Given the description of an element on the screen output the (x, y) to click on. 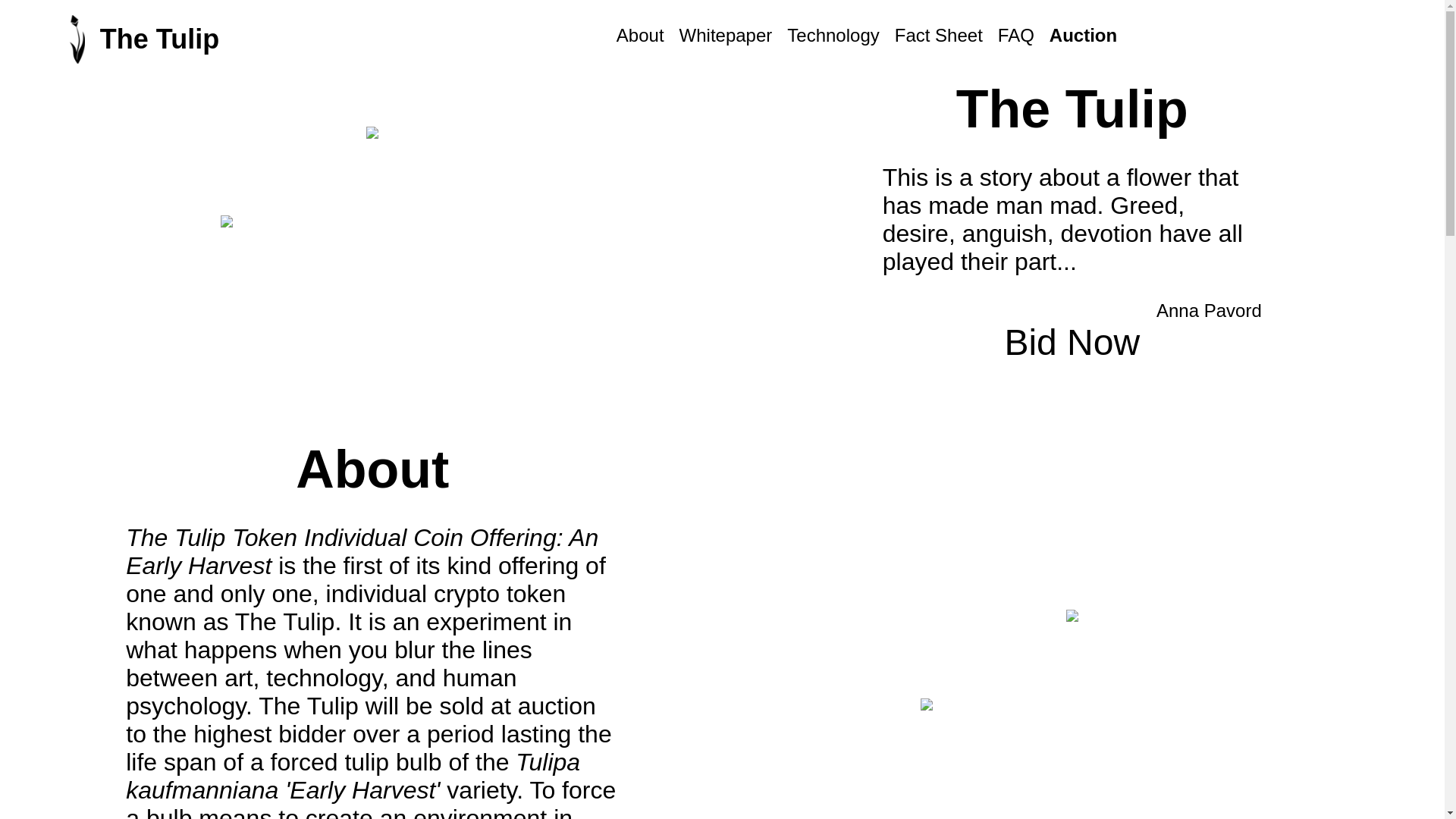
Bid Now Element type: text (1071, 342)
Technology Element type: text (832, 39)
Fact Sheet Element type: text (938, 39)
Whitepaper Element type: text (725, 39)
Auction Element type: text (1083, 39)
About Element type: text (640, 39)
FAQ Element type: text (1015, 39)
